Given the description of an element on the screen output the (x, y) to click on. 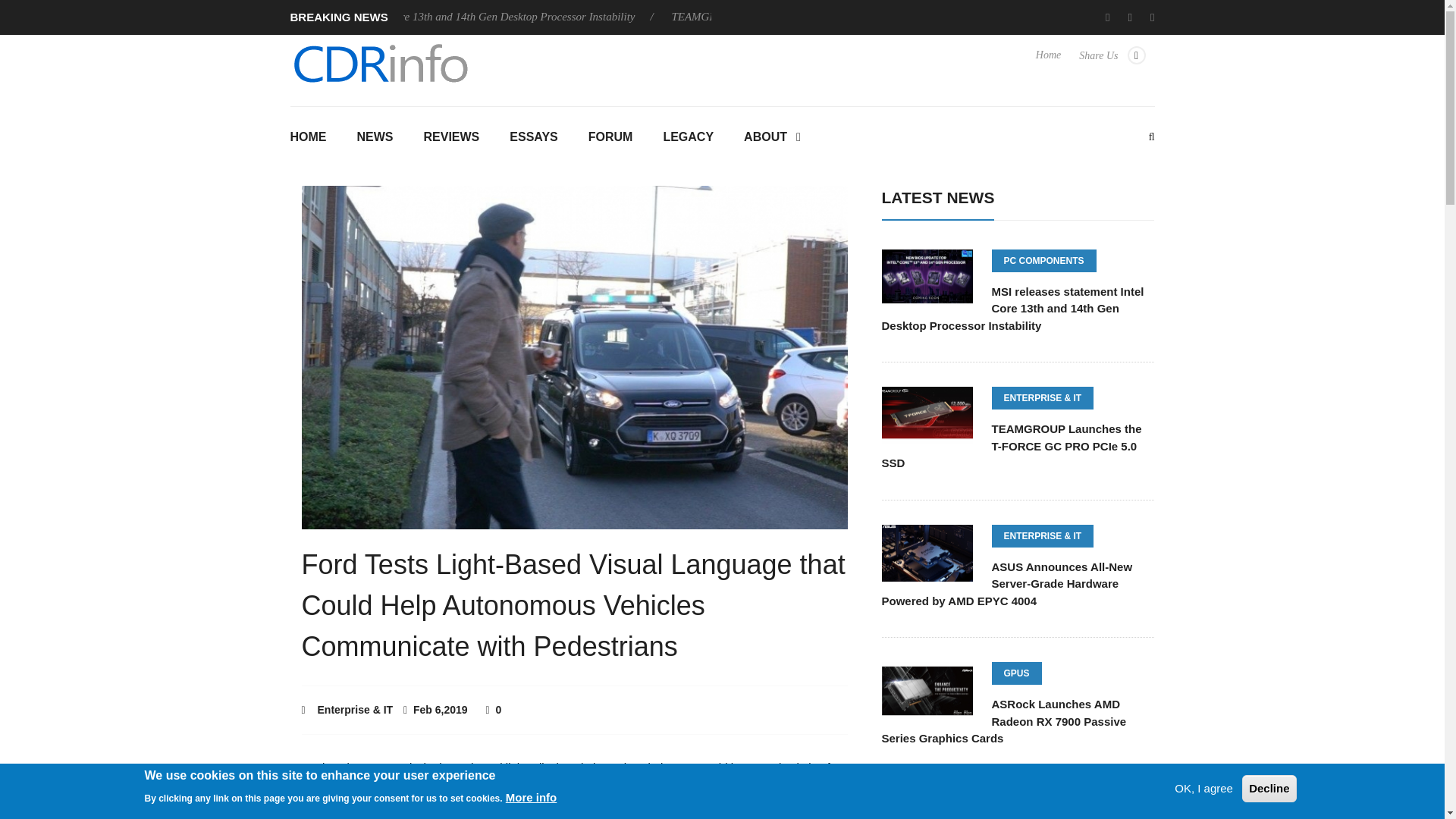
TEAMGROUP Launches the T-FORCE GC PRO PCIe 5.0 SSD (824, 16)
Search (722, 271)
ESSAYS (533, 138)
ABOUT (772, 138)
FORUM (610, 138)
LEGACY (688, 138)
Home (1048, 62)
Share Us (1112, 62)
REVIEWS (451, 138)
NEWS (373, 138)
